Given the description of an element on the screen output the (x, y) to click on. 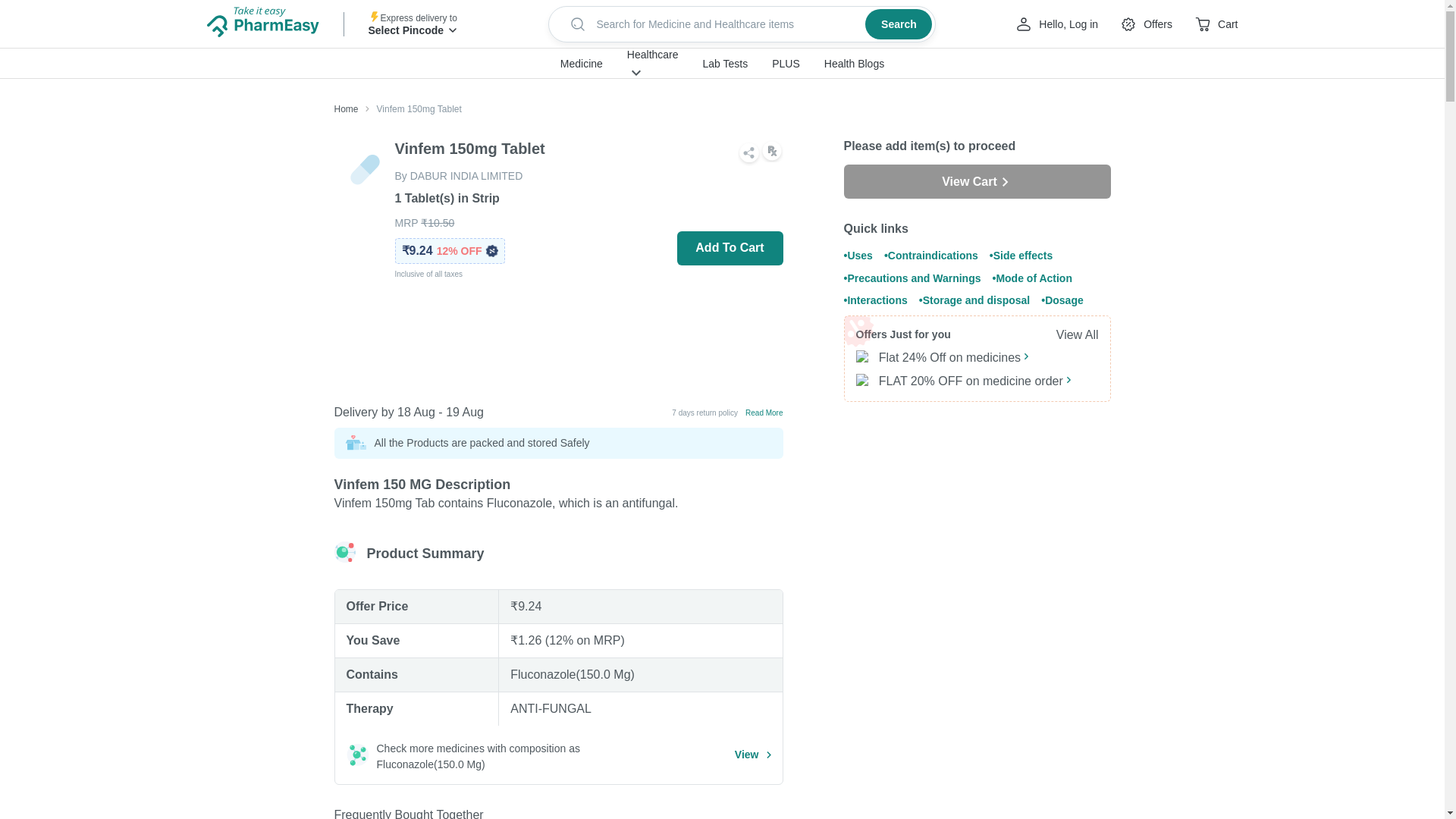
Offers (1145, 24)
Healthcare (652, 54)
Lab Tests (725, 63)
View (753, 754)
Vinfem 150mg Tablet (409, 109)
Read More (764, 411)
Cart (1215, 24)
Add To Cart (730, 247)
Health Blogs (853, 63)
PLUS (785, 63)
